Given the description of an element on the screen output the (x, y) to click on. 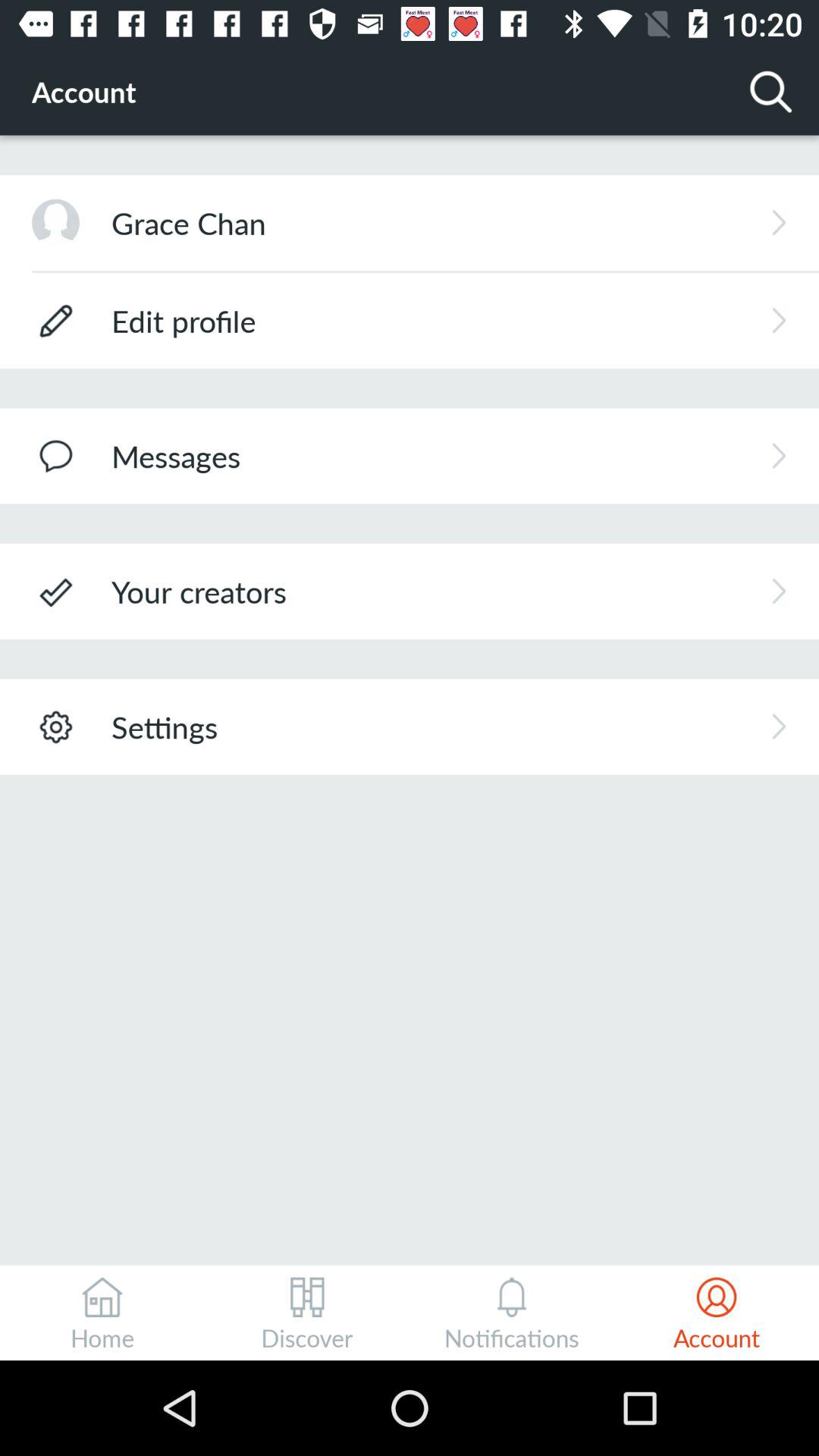
turn on icon next to account icon (771, 91)
